Given the description of an element on the screen output the (x, y) to click on. 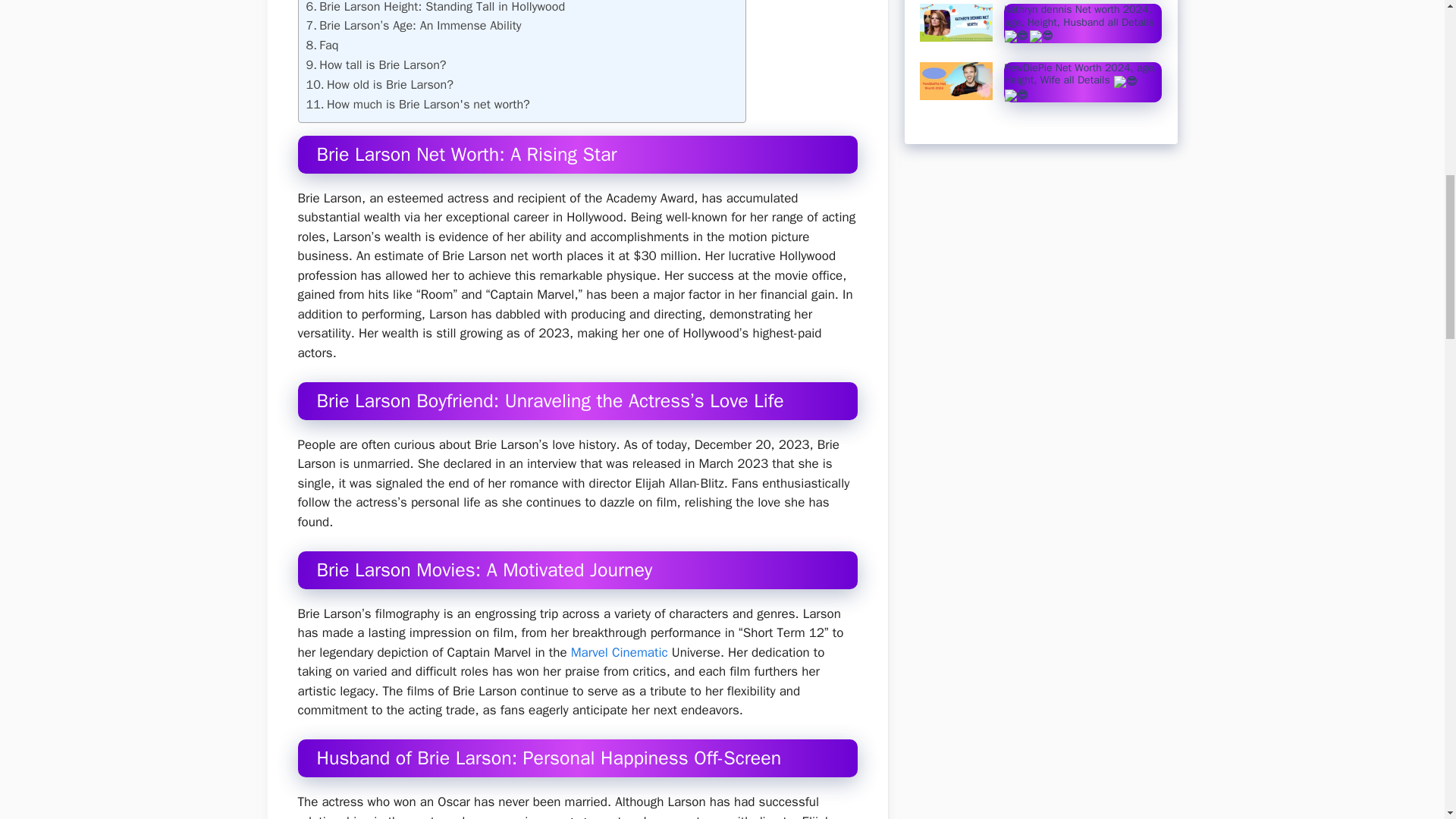
How tall is Brie Larson? (375, 65)
Faq (322, 45)
Brie Larson Height: Standing Tall in Hollywood (435, 8)
Brie Larson Height: Standing Tall in Hollywood (435, 8)
Marvel Cinematic (619, 652)
Faq (322, 45)
How much is Brie Larson's net worth? (417, 104)
How old is Brie Larson? (378, 85)
How tall is Brie Larson? (375, 65)
How old is Brie Larson? (378, 85)
How much is Brie Larson's net worth? (417, 104)
